Given the description of an element on the screen output the (x, y) to click on. 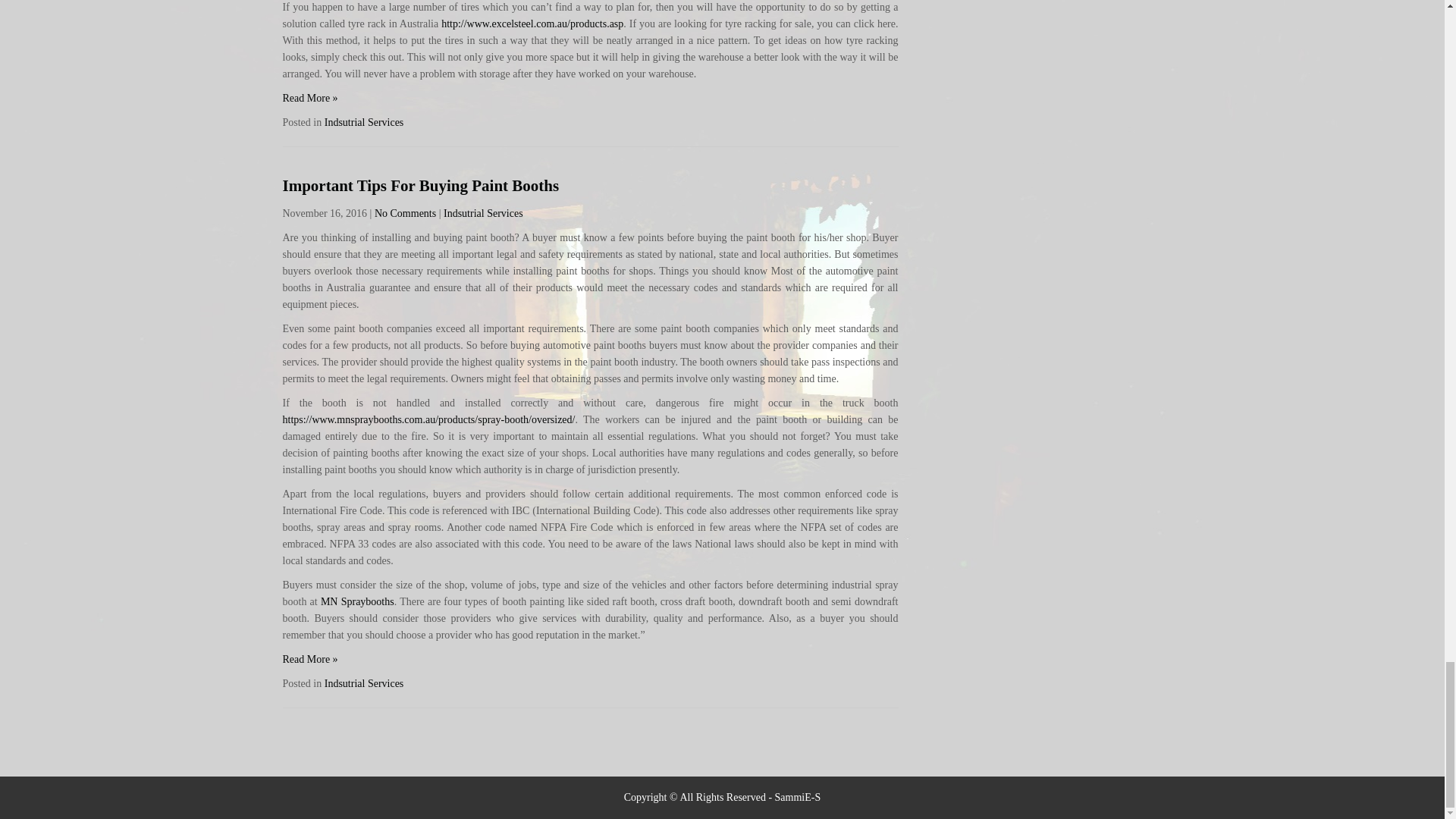
Indsutrial Services (483, 213)
Indsutrial Services (364, 122)
Indsutrial Services (364, 683)
No Comments (404, 213)
MN Spraybooths (357, 601)
Important Tips For Buying Paint Booths (420, 185)
